Given the description of an element on the screen output the (x, y) to click on. 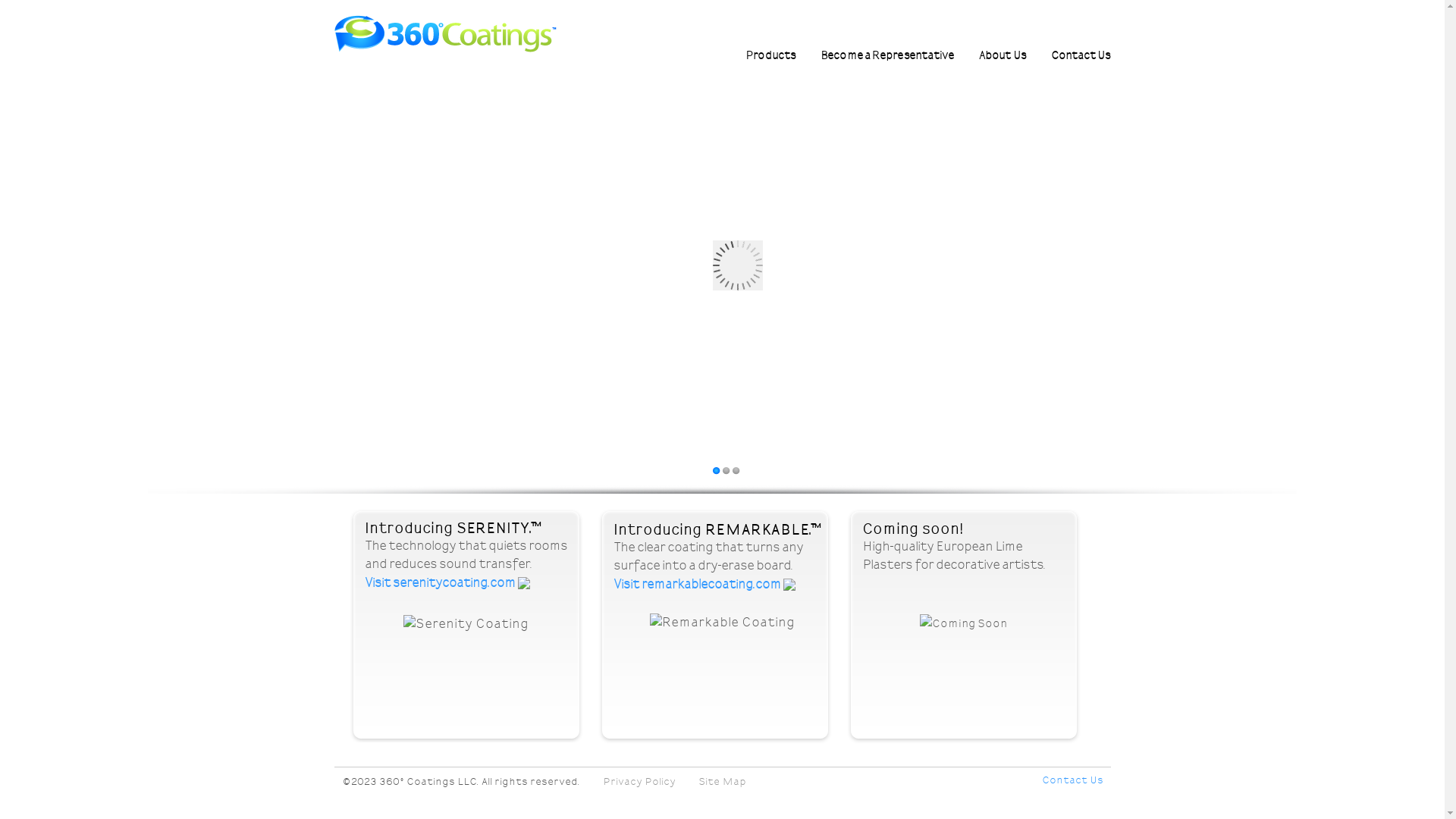
1 Element type: text (715, 471)
3 Element type: text (735, 471)
Products Element type: text (770, 54)
Become a Representative Element type: text (887, 54)
About Us Element type: text (1002, 54)
Privacy Policy Element type: text (638, 781)
2 Element type: text (725, 471)
Site Map Element type: text (721, 781)
Contact Us Element type: text (1072, 780)
Contact Us Element type: text (1080, 54)
